Given the description of an element on the screen output the (x, y) to click on. 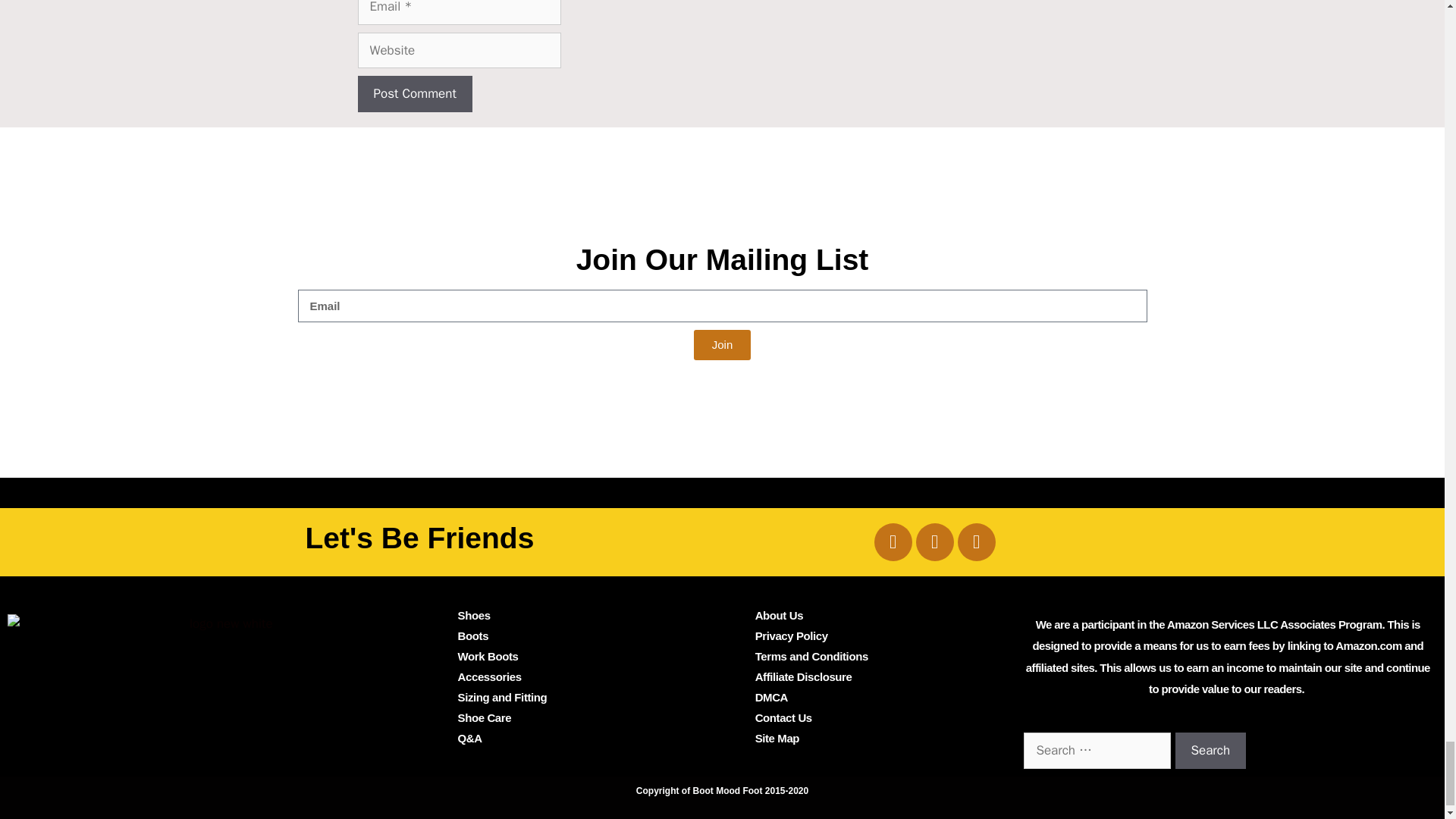
Search for: (1096, 750)
Post Comment (414, 94)
Shoes (474, 615)
Boots (473, 635)
Search (1210, 750)
Search (1210, 750)
